Given the description of an element on the screen output the (x, y) to click on. 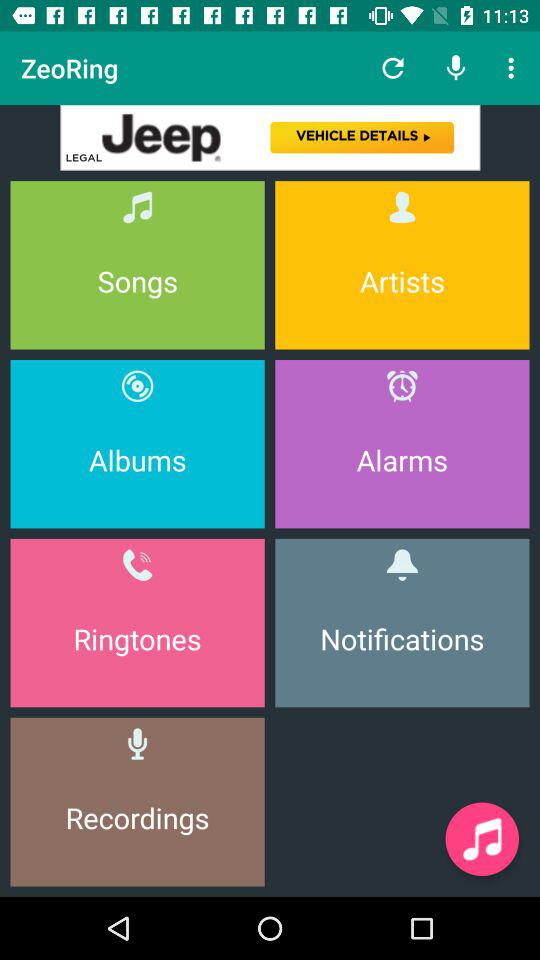
go to paley muisc (482, 839)
